Given the description of an element on the screen output the (x, y) to click on. 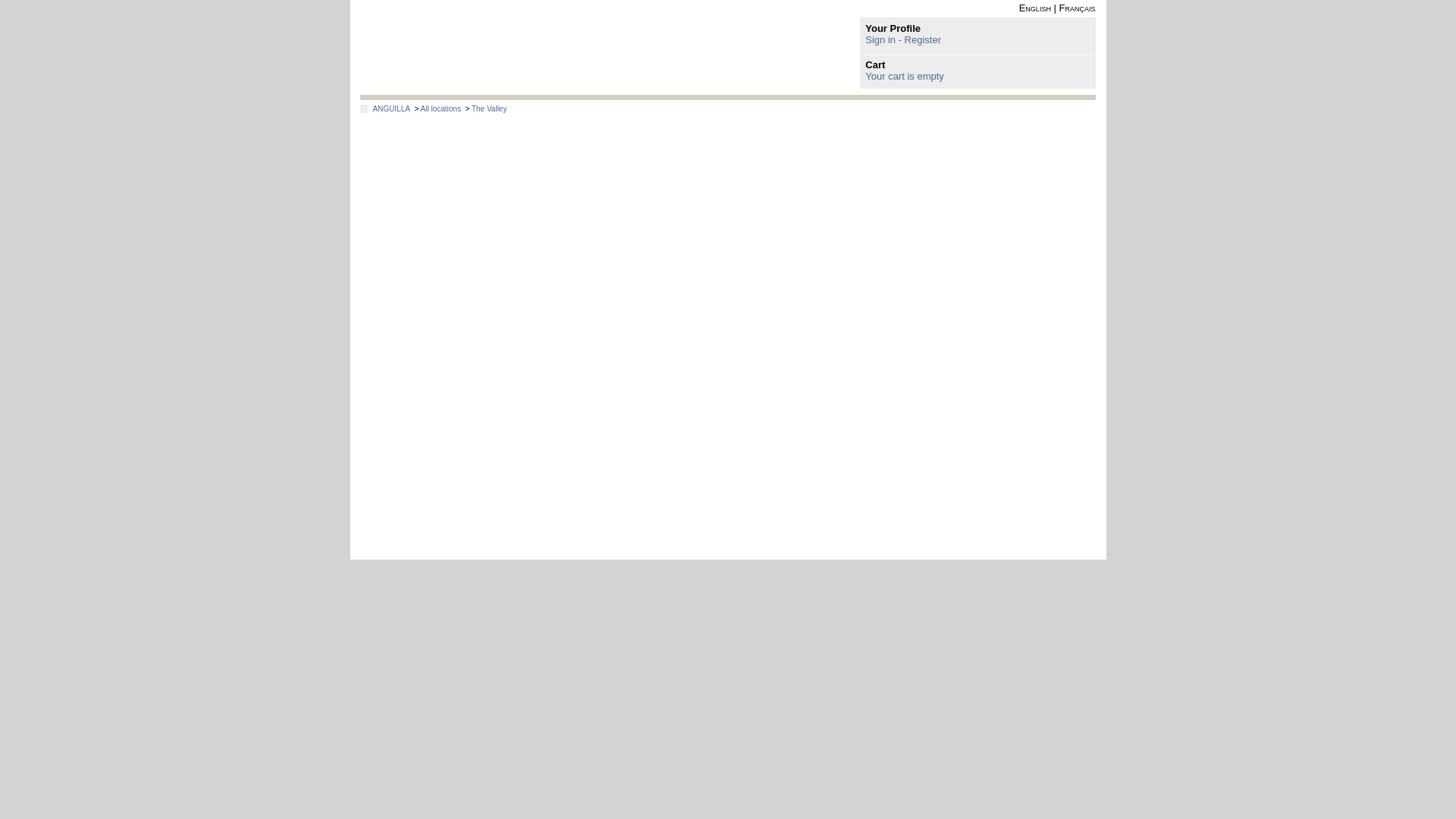
All locations (440, 108)
Sign in - Register (902, 39)
All locations (440, 108)
info-clipper.com - Company Information Worldwide (466, 47)
English (1035, 7)
info-clipper.com in english (1035, 7)
Your cart is empty (903, 75)
ANGUILLA (390, 108)
The Valley (488, 108)
ANGUILLA (390, 108)
Company Information Worldwide (466, 47)
